Given the description of an element on the screen output the (x, y) to click on. 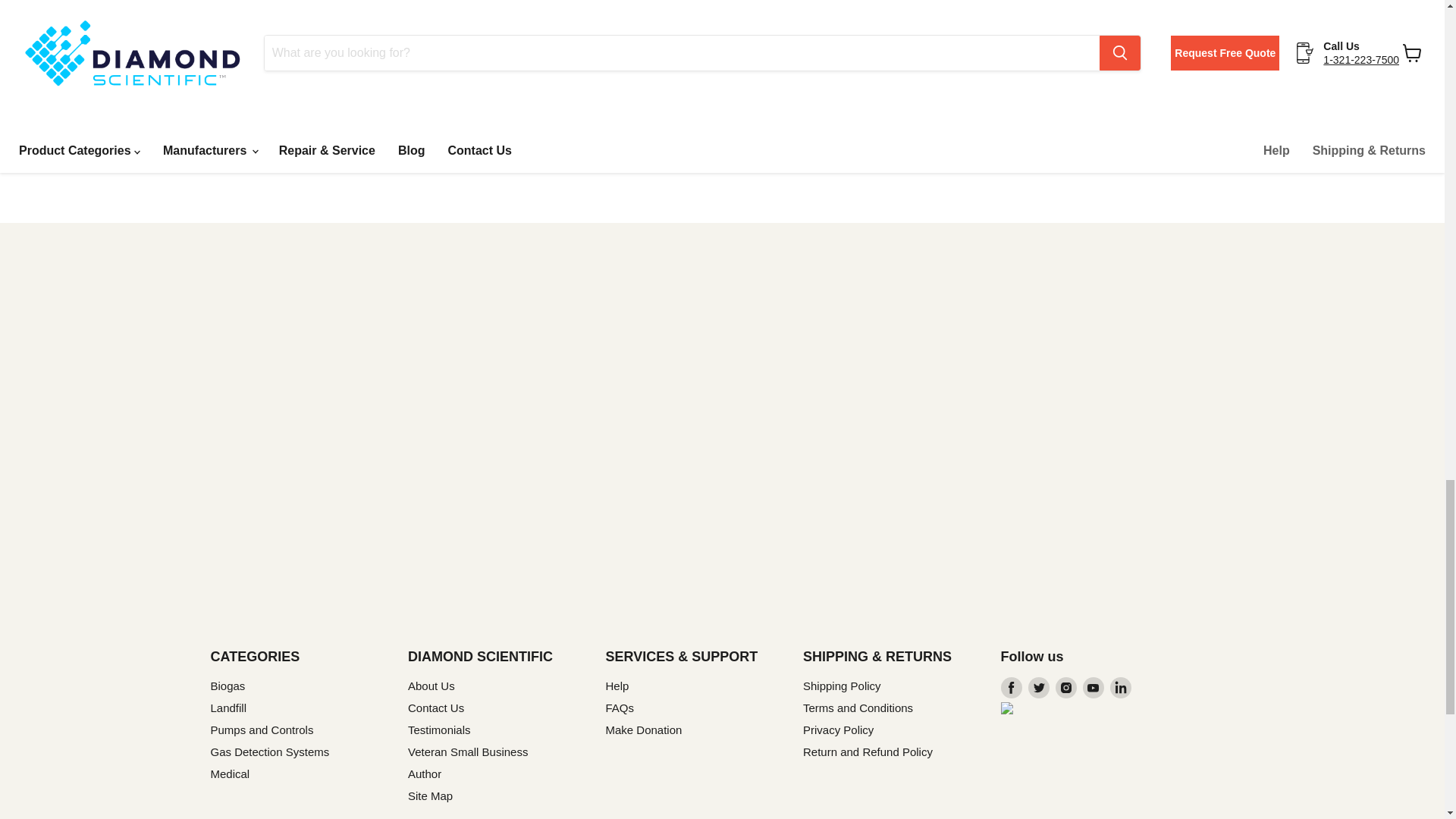
Twitter (1038, 687)
Instagram (1066, 687)
Facebook (1011, 687)
LinkedIn (1120, 687)
Youtube (1093, 687)
